Given the description of an element on the screen output the (x, y) to click on. 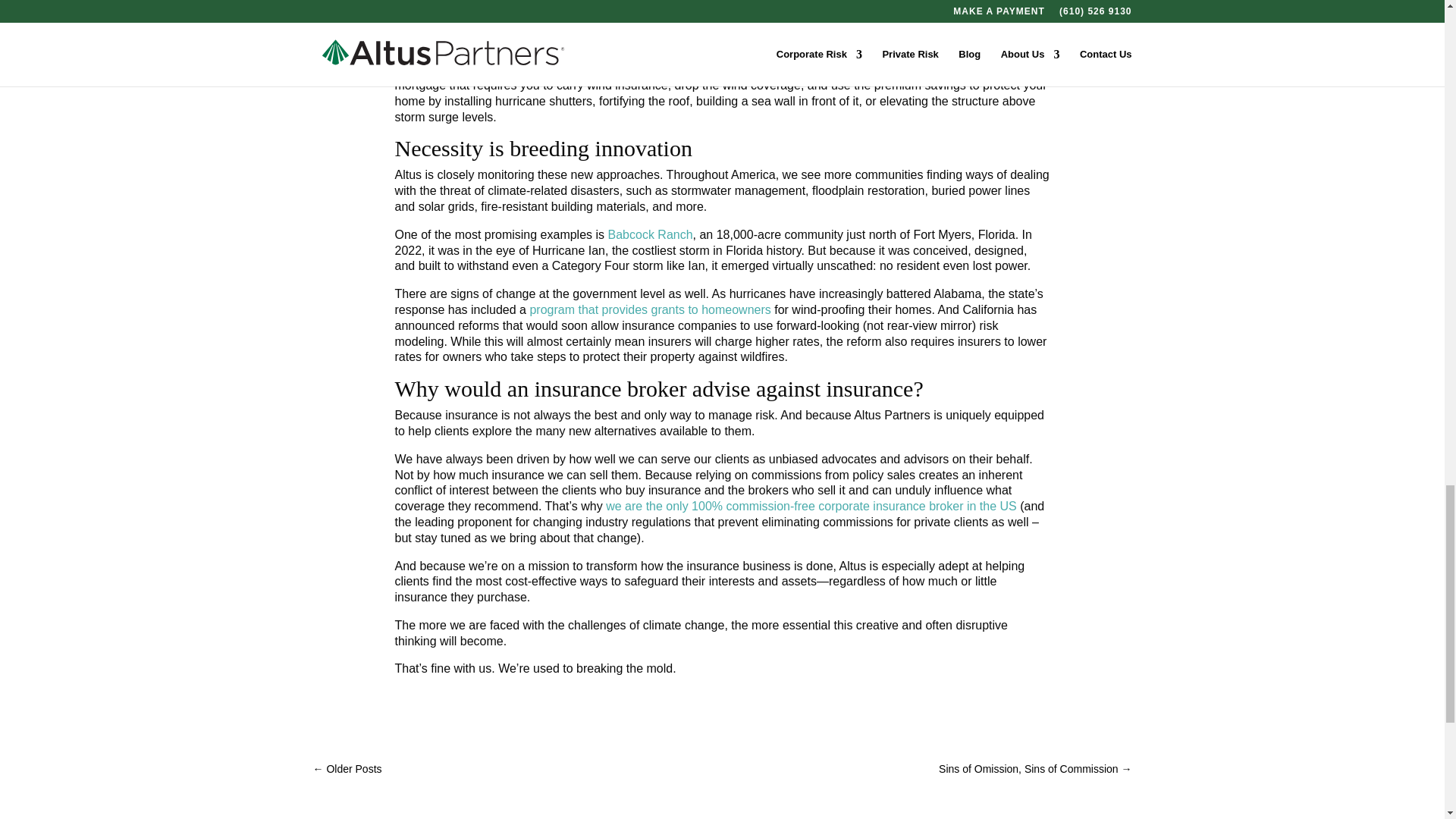
program that provides grants to homeowners (649, 309)
Babcock Ranch (650, 234)
